Given the description of an element on the screen output the (x, y) to click on. 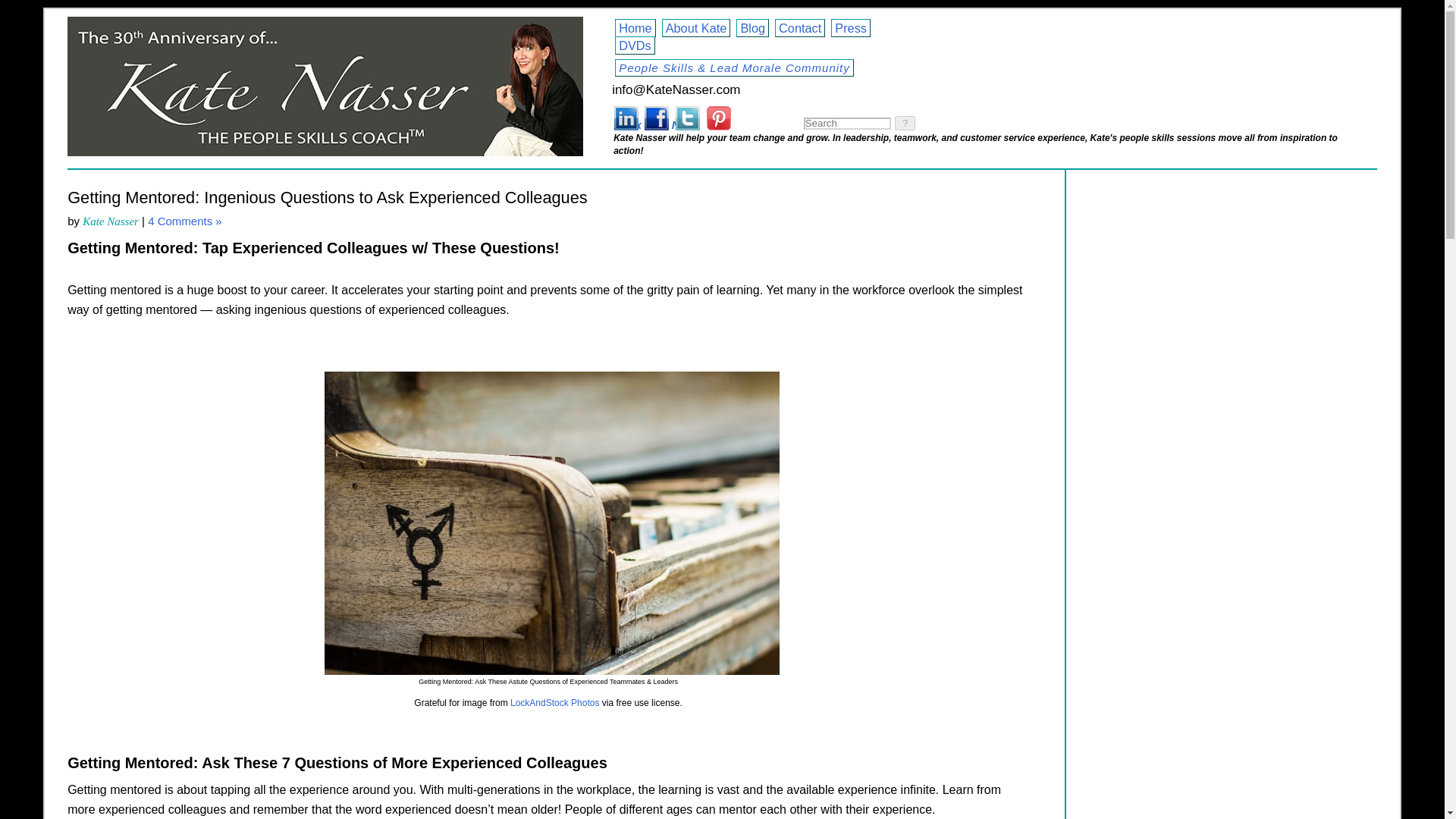
Kate Nasser (110, 221)
About Kate (696, 27)
LinkedIn (624, 117)
Blog (752, 27)
Facebook (656, 117)
Posts by Kate Nasser (110, 221)
Home (635, 27)
DVDs (634, 45)
